Given the description of an element on the screen output the (x, y) to click on. 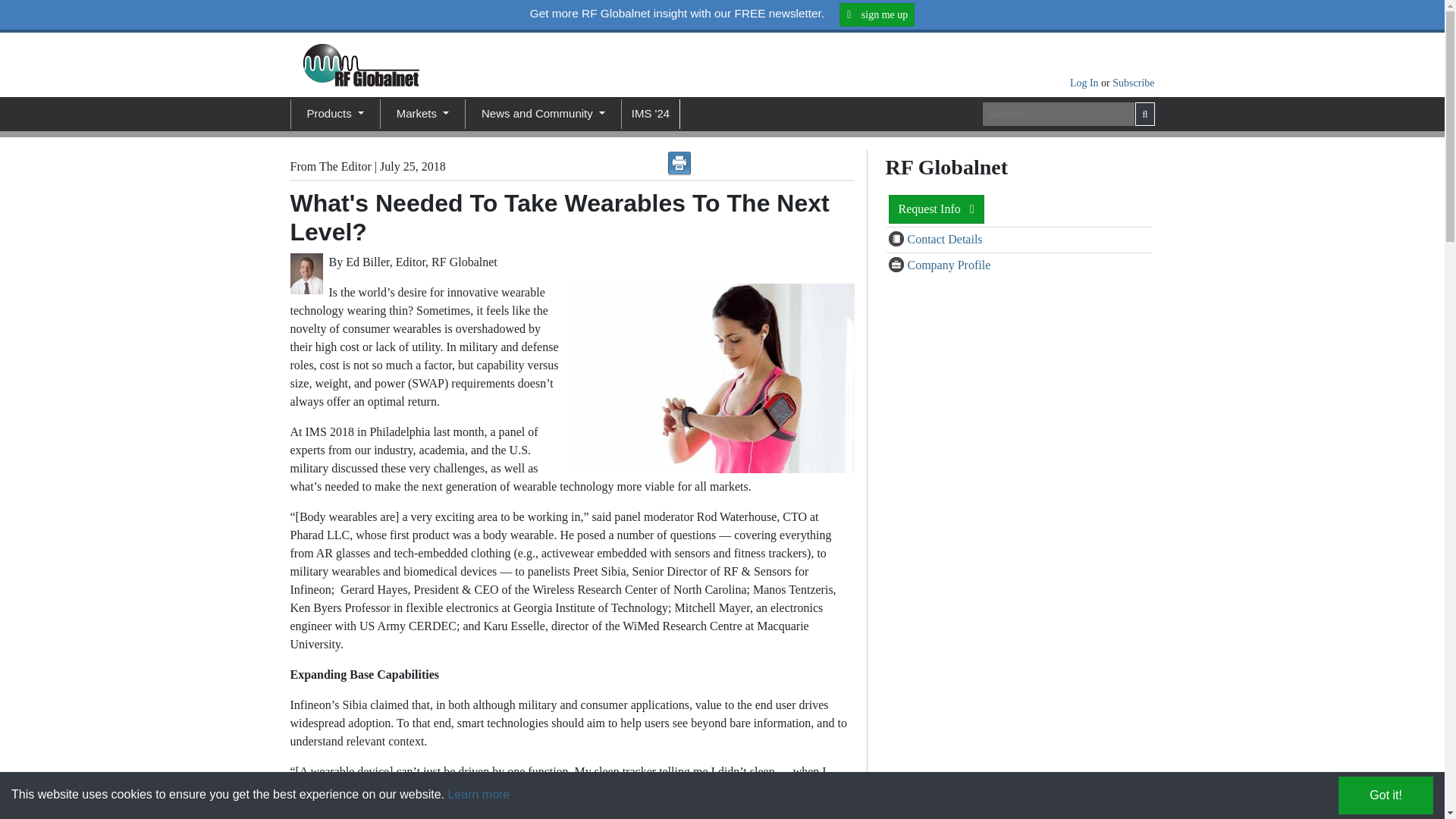
Company Profile (897, 265)
Print (679, 163)
Products (334, 113)
sign me up (877, 14)
Log In (1085, 82)
Subscribe (1133, 82)
Wearables (708, 378)
Contact Details (897, 239)
